Given the description of an element on the screen output the (x, y) to click on. 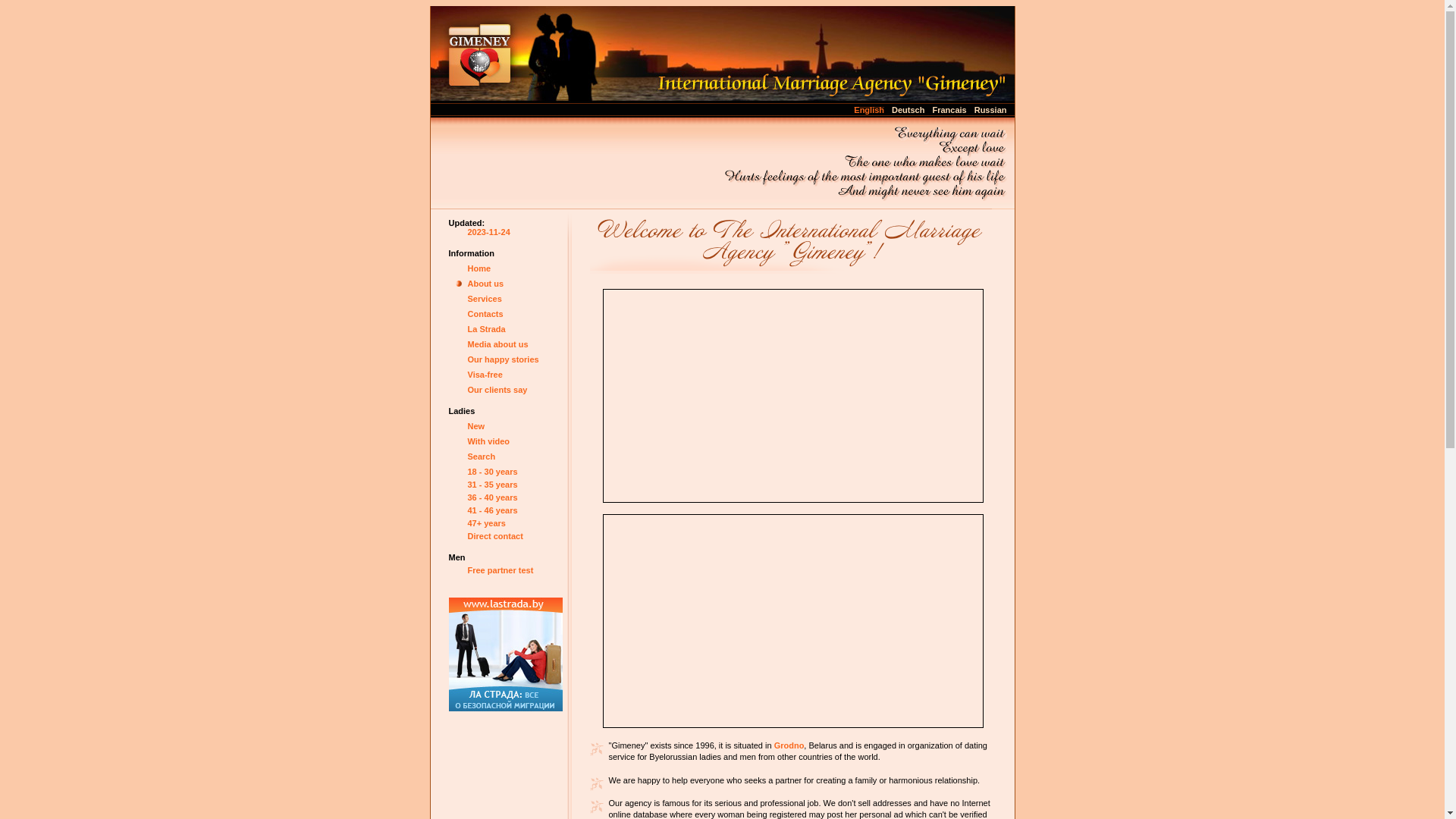
Visa-free Element type: text (484, 374)
Media about us Element type: text (497, 343)
Contacts Element type: text (484, 313)
Deutsch Element type: text (907, 108)
Direct contact Element type: text (494, 535)
Home Element type: text (478, 268)
18 - 30 years Element type: text (492, 471)
Our happy stories Element type: text (502, 359)
With video Element type: text (488, 440)
Services Element type: text (484, 298)
41 - 46 years Element type: text (492, 509)
New Element type: text (475, 425)
47+ years Element type: text (486, 522)
36 - 40 years Element type: text (492, 497)
Free partner test Element type: text (500, 569)
Francais Element type: text (948, 108)
Grodno Element type: text (789, 744)
La Strada Element type: text (486, 328)
Russian Element type: text (990, 108)
English Element type: text (868, 108)
Our clients say Element type: text (497, 389)
About us Element type: text (485, 283)
Search Element type: text (481, 456)
31 - 35 years Element type: text (492, 484)
La Strada Element type: hover (505, 654)
